Given the description of an element on the screen output the (x, y) to click on. 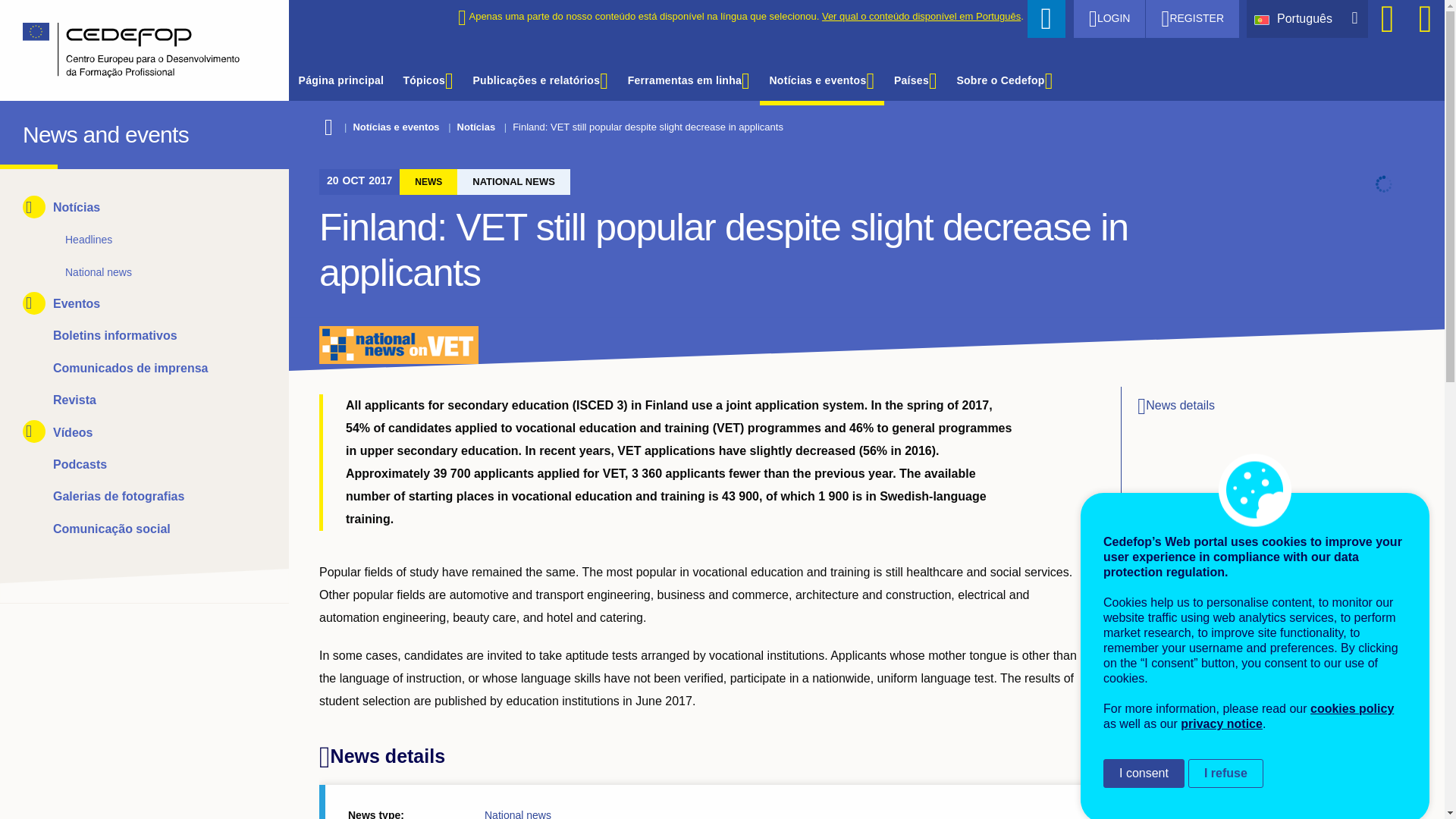
Apply (1046, 18)
CEDEFOP (37, 131)
Home (133, 50)
Home (37, 131)
